Given the description of an element on the screen output the (x, y) to click on. 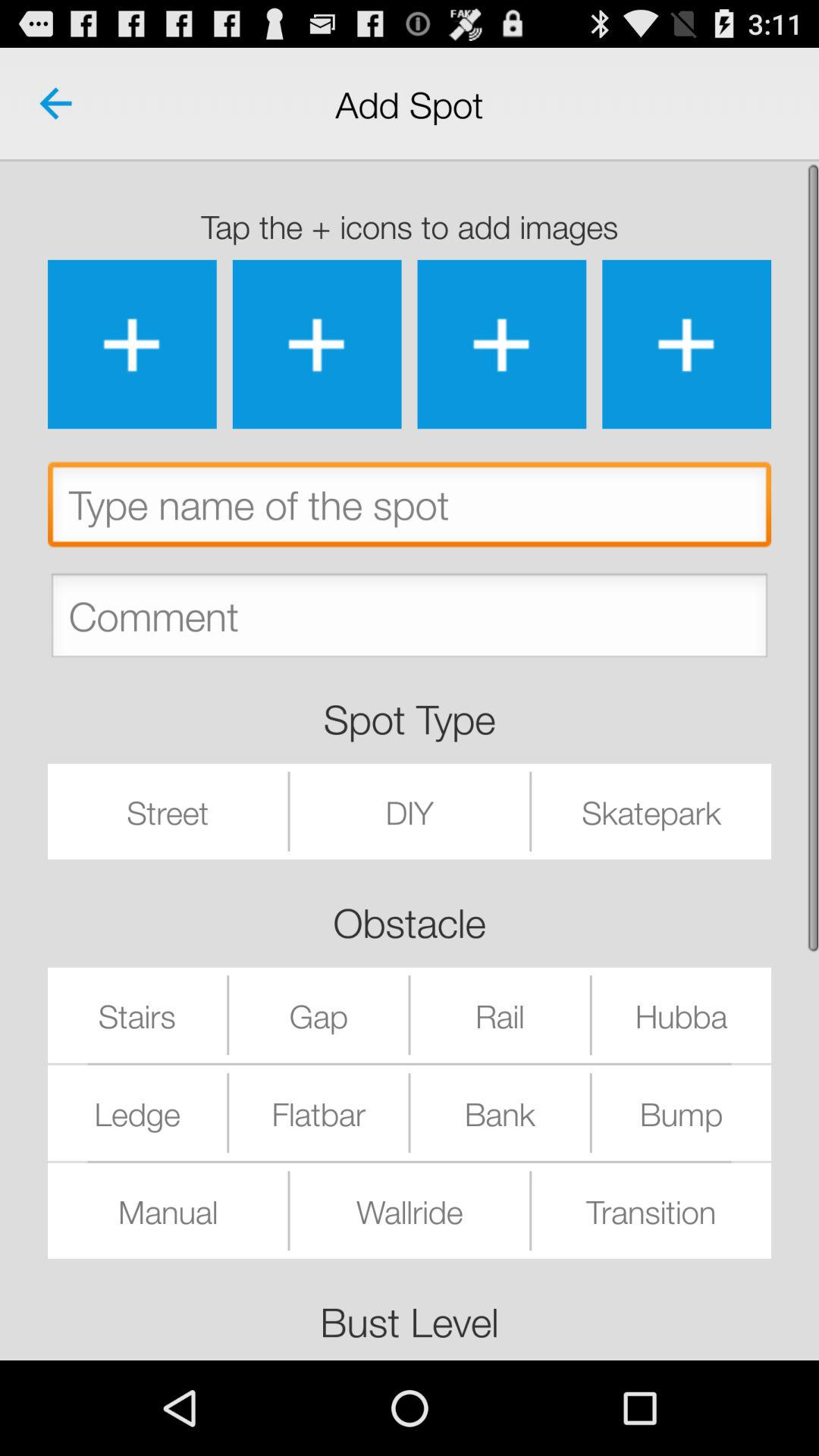
launch the flatbar item (318, 1112)
